Given the description of an element on the screen output the (x, y) to click on. 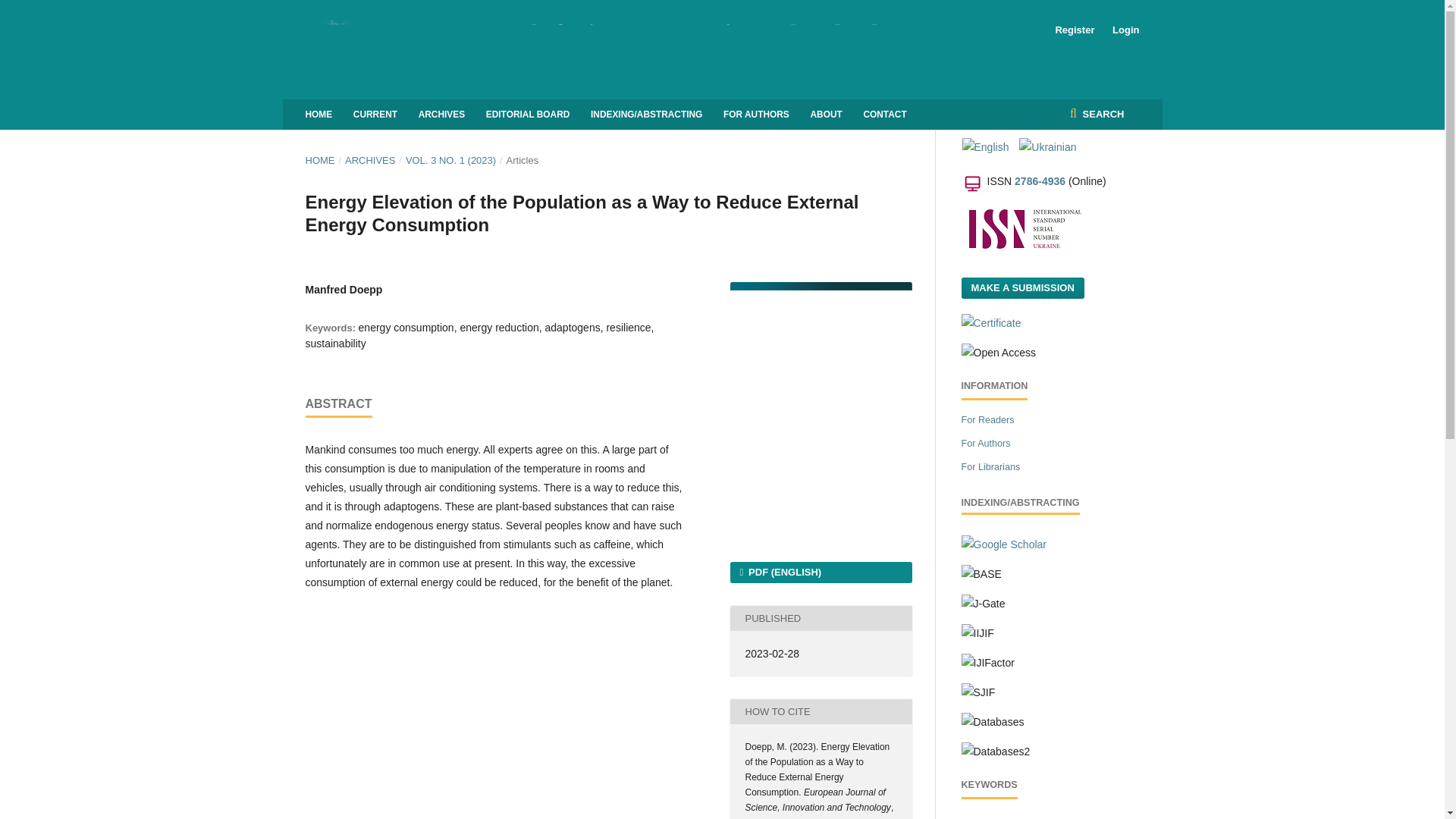
Databases (992, 722)
IJIFactor (987, 662)
Ukrainian (1047, 147)
BASE (980, 574)
ARCHIVES (441, 114)
J-Gate (983, 603)
Google Scholar (1003, 544)
Login (1121, 29)
EDITORIAL BOARD (528, 114)
CONTACT (884, 114)
